Given the description of an element on the screen output the (x, y) to click on. 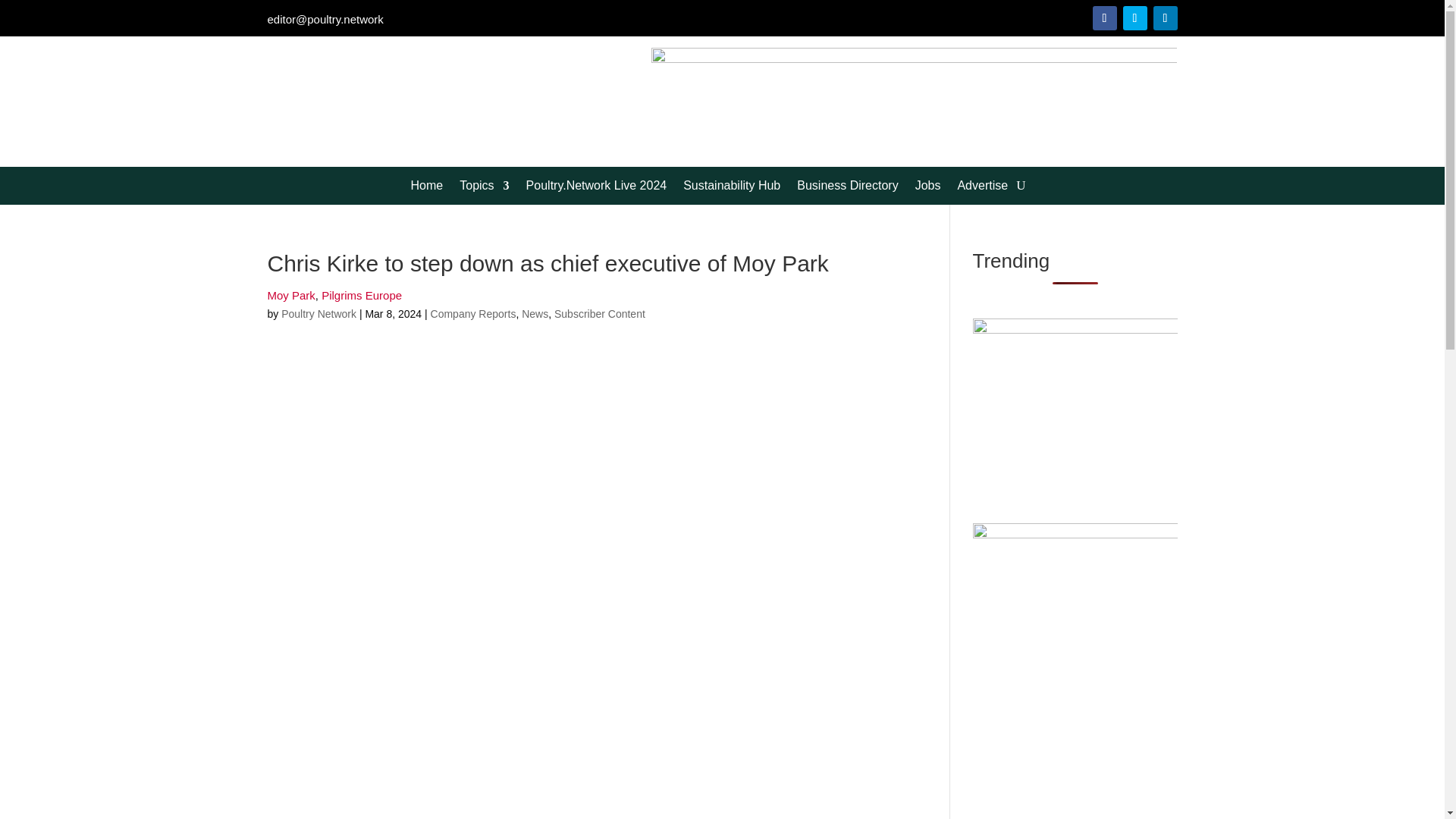
News (534, 313)
Jobs (927, 188)
Topics (484, 188)
Poultry.Network Live 2024 (595, 188)
Posts by Poultry Network (318, 313)
Advertise (981, 188)
Sustainability Hub (731, 188)
Business Directory (847, 188)
Follow on LinkedIn (1164, 17)
Home (427, 188)
